Given the description of an element on the screen output the (x, y) to click on. 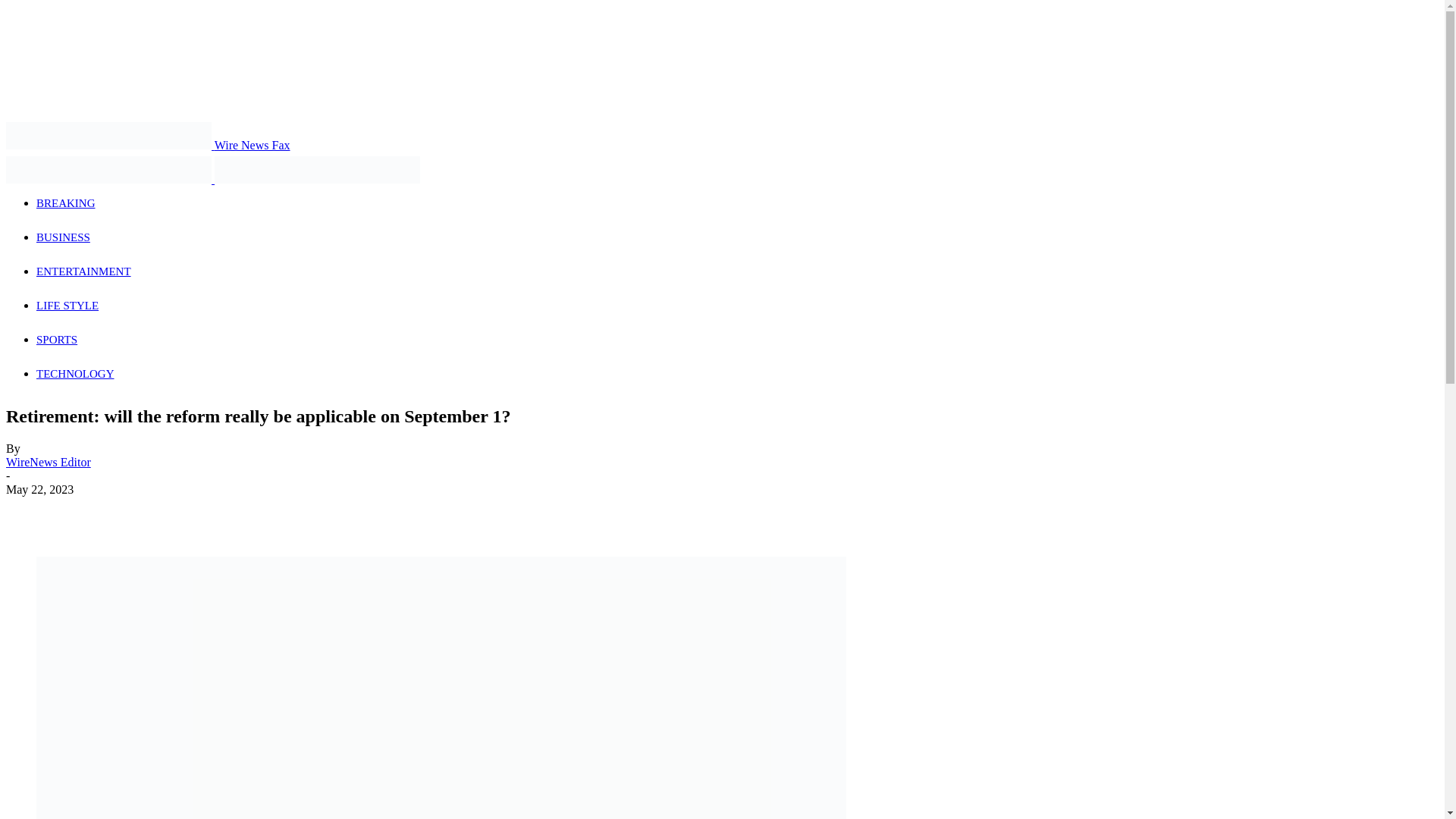
Wire News Fax (147, 144)
TECHNOLOGY (75, 373)
Your Fastest Source for Reliable News (108, 169)
Your Fastest Source for Reliable News (108, 135)
ENTERTAINMENT (83, 271)
SPORTS (56, 339)
Your Fastest Source for Reliable News (317, 169)
BUSINESS (63, 236)
WireNews Editor (47, 461)
